Given the description of an element on the screen output the (x, y) to click on. 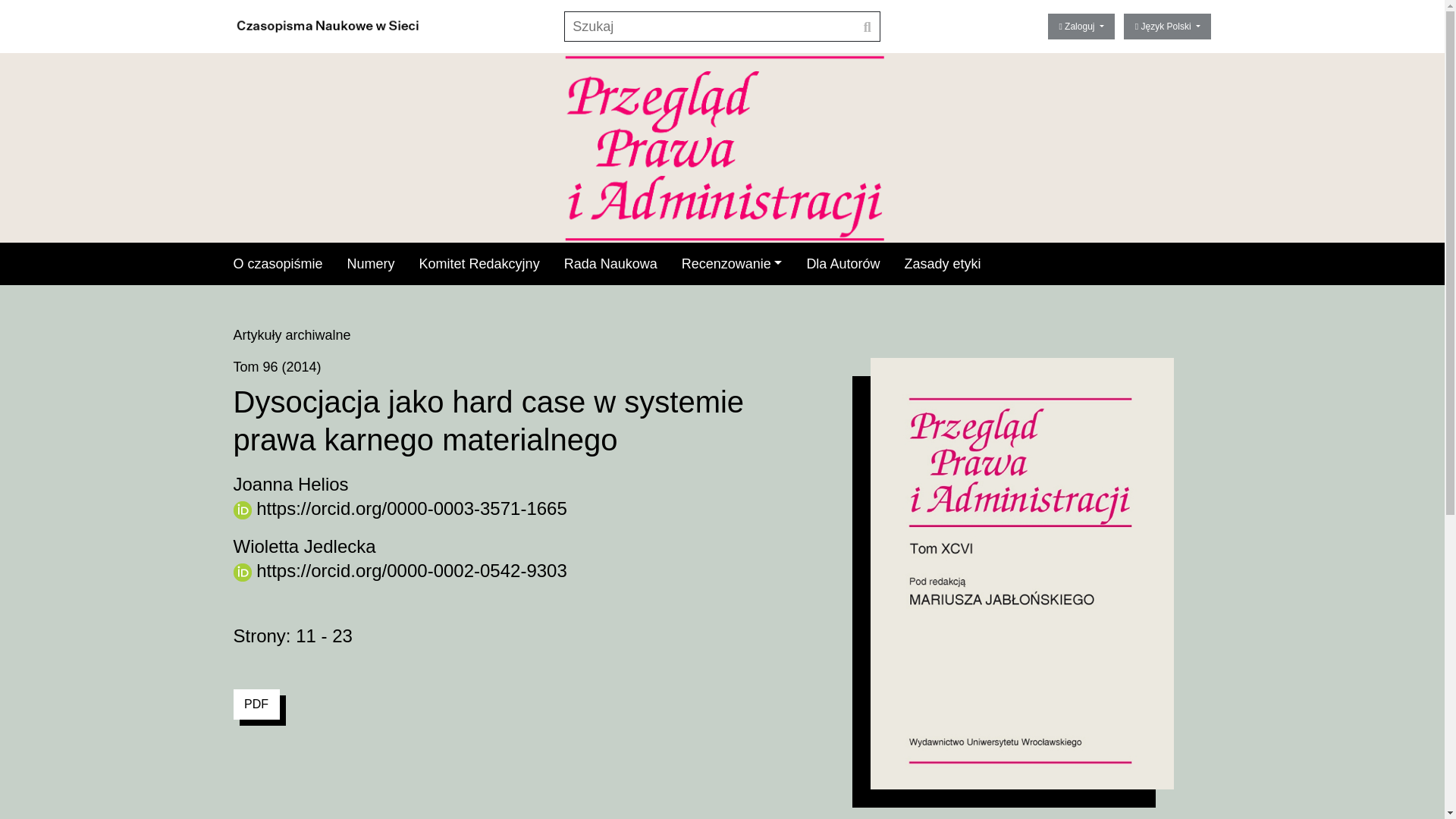
Numery (370, 264)
PDF (255, 704)
Komitet Redakcyjny (479, 264)
Zaloguj (1081, 26)
Rada Naukowa (611, 264)
Recenzowanie (732, 264)
Zasady etyki (941, 264)
